Given the description of an element on the screen output the (x, y) to click on. 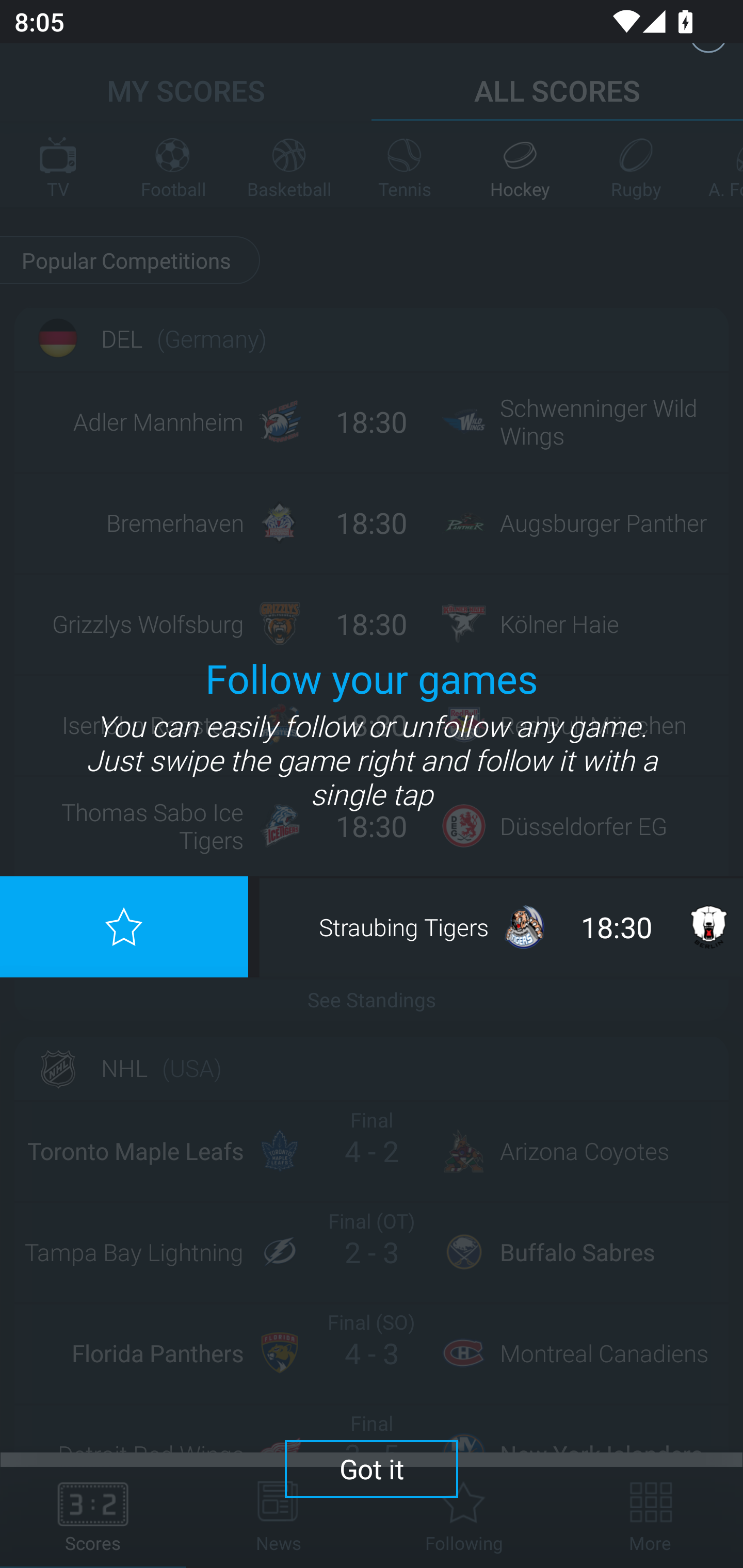
Straubing Tigers 18:30 Eisbären Berlin (502, 926)
Got it (371, 1468)
